Given the description of an element on the screen output the (x, y) to click on. 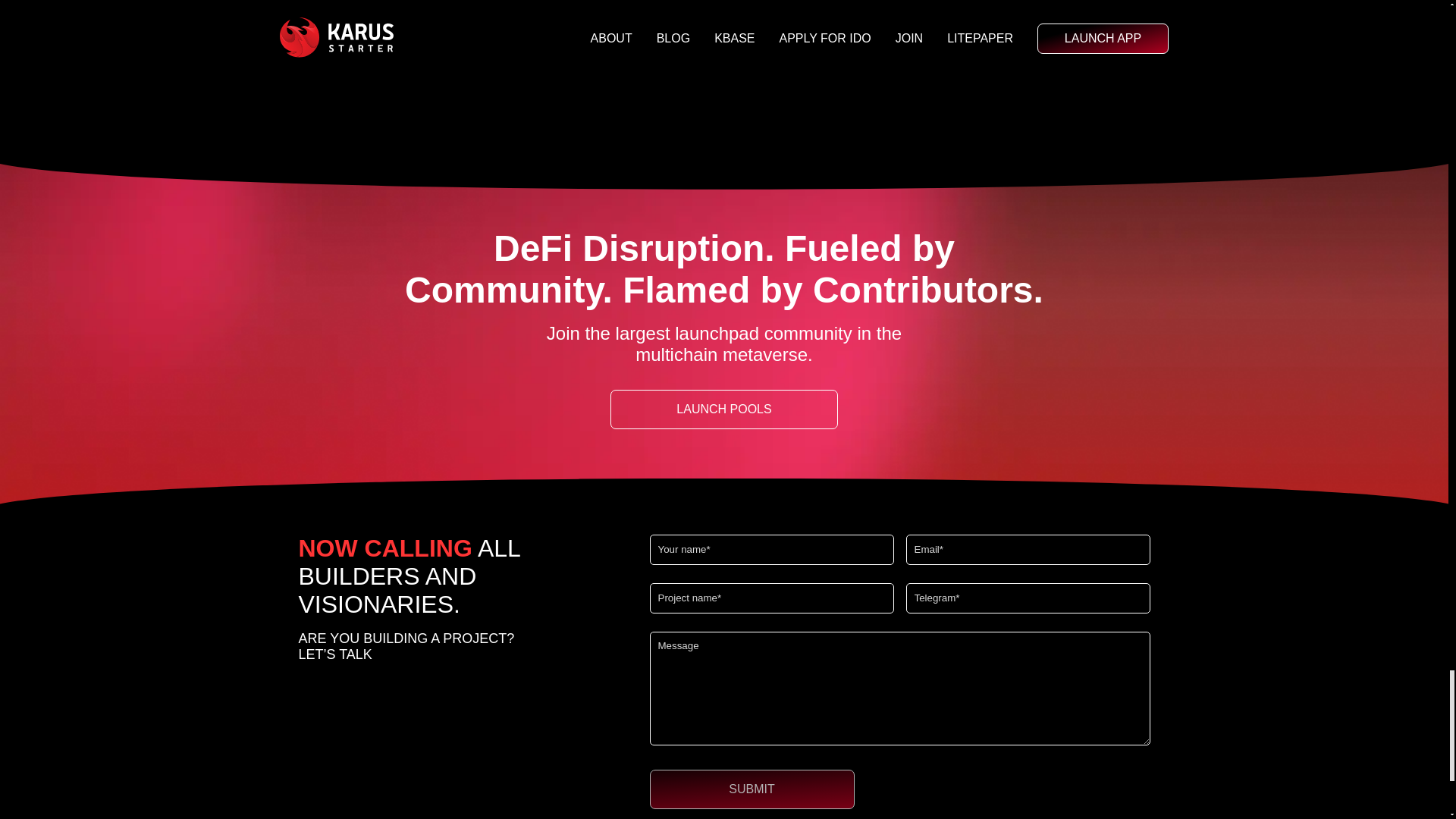
SUBMIT (751, 789)
LAUNCH POOLS (724, 409)
